Given the description of an element on the screen output the (x, y) to click on. 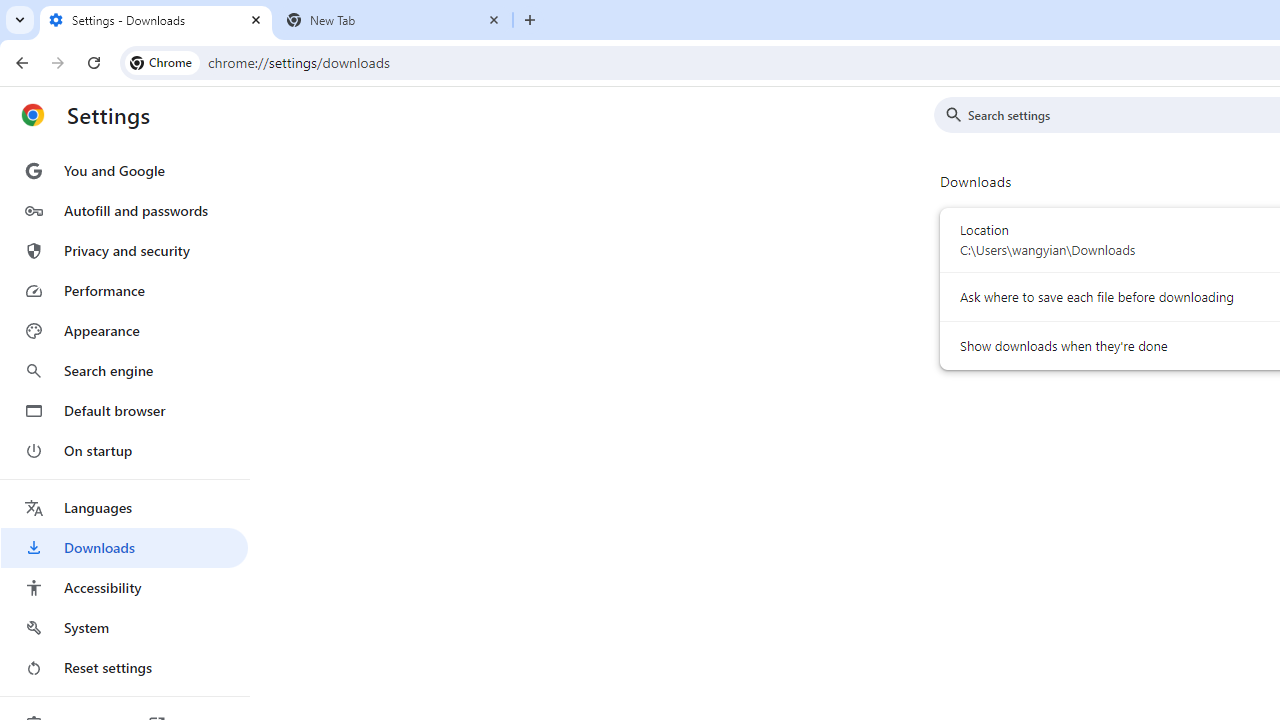
Languages (124, 507)
Default browser (124, 410)
You and Google (124, 170)
Search engine (124, 370)
Settings - Downloads (156, 20)
On startup (124, 450)
Downloads (124, 547)
Privacy and security (124, 250)
Autofill and passwords (124, 210)
